Given the description of an element on the screen output the (x, y) to click on. 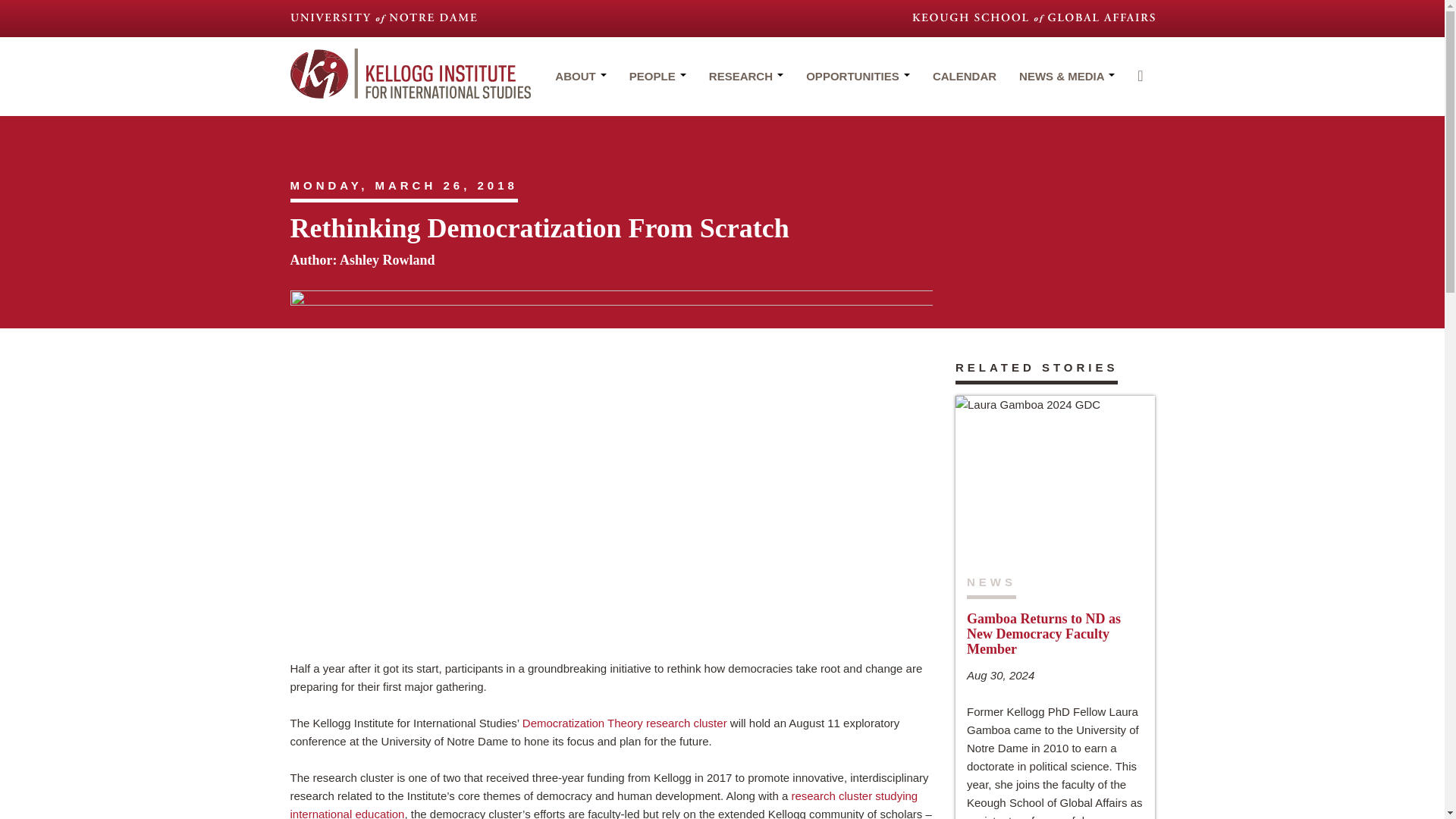
Laura Gamboa 2024 GDC (1054, 478)
ABOUT (580, 84)
PEOPLE (657, 84)
